Given the description of an element on the screen output the (x, y) to click on. 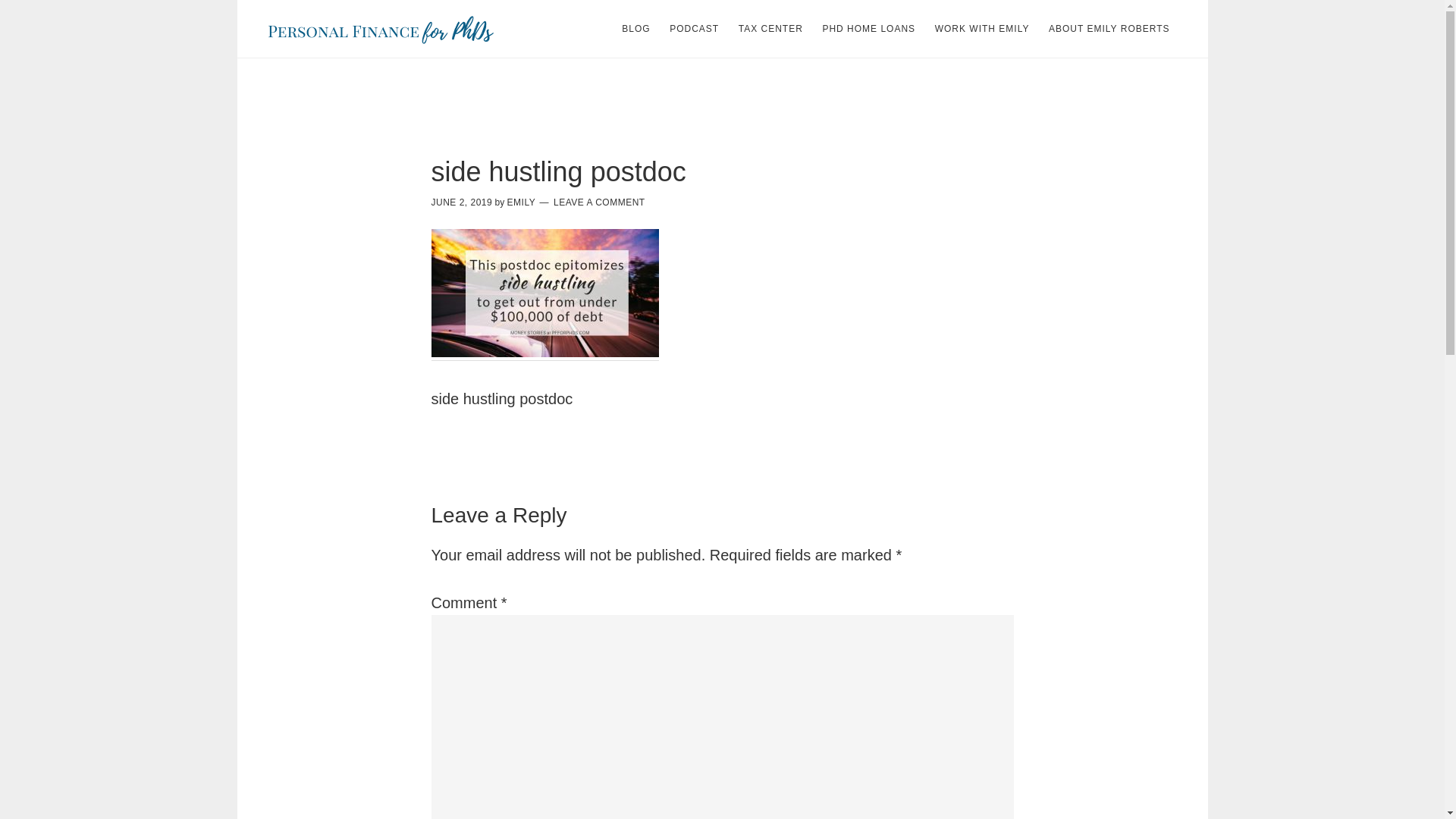
PHD HOME LOANS (868, 28)
ABOUT EMILY ROBERTS (1108, 28)
TAX CENTER (770, 28)
PODCAST (694, 28)
LEAVE A COMMENT (599, 202)
WORK WITH EMILY (981, 28)
PERSONAL FINANCE FOR PHDS (380, 28)
EMILY (520, 202)
BLOG (636, 28)
